Given the description of an element on the screen output the (x, y) to click on. 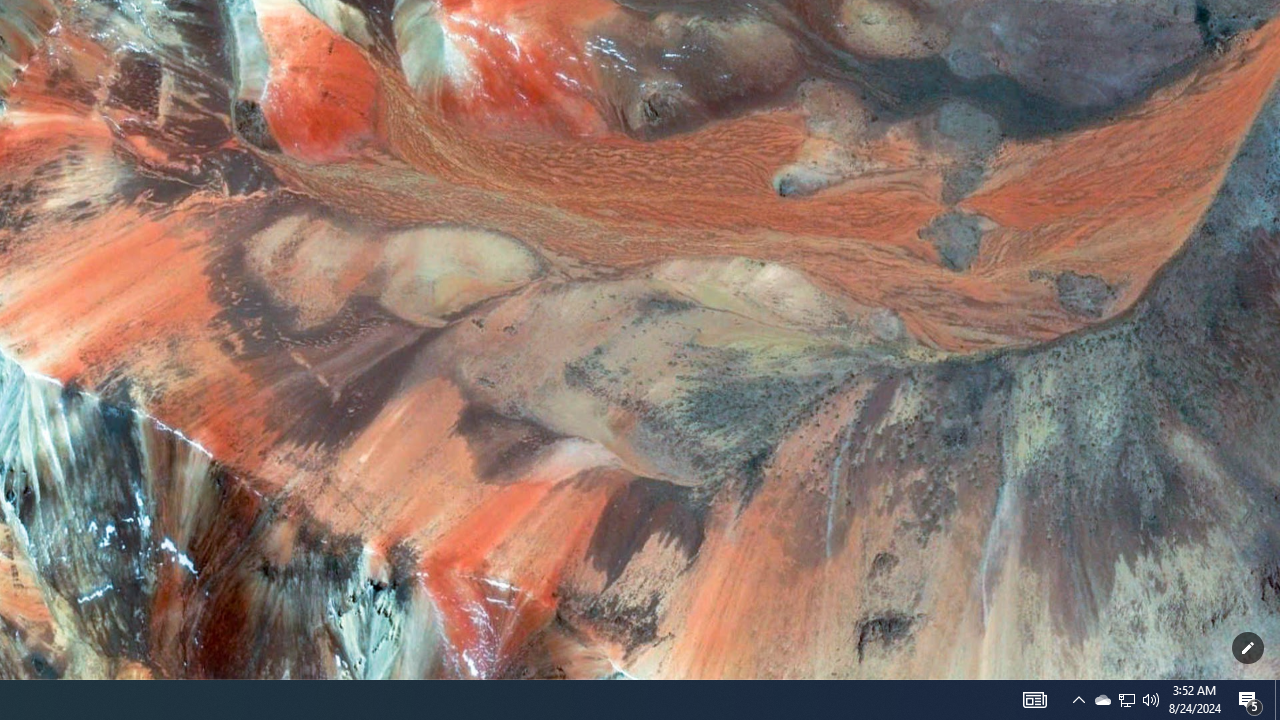
Customize this page (1247, 647)
